Given the description of an element on the screen output the (x, y) to click on. 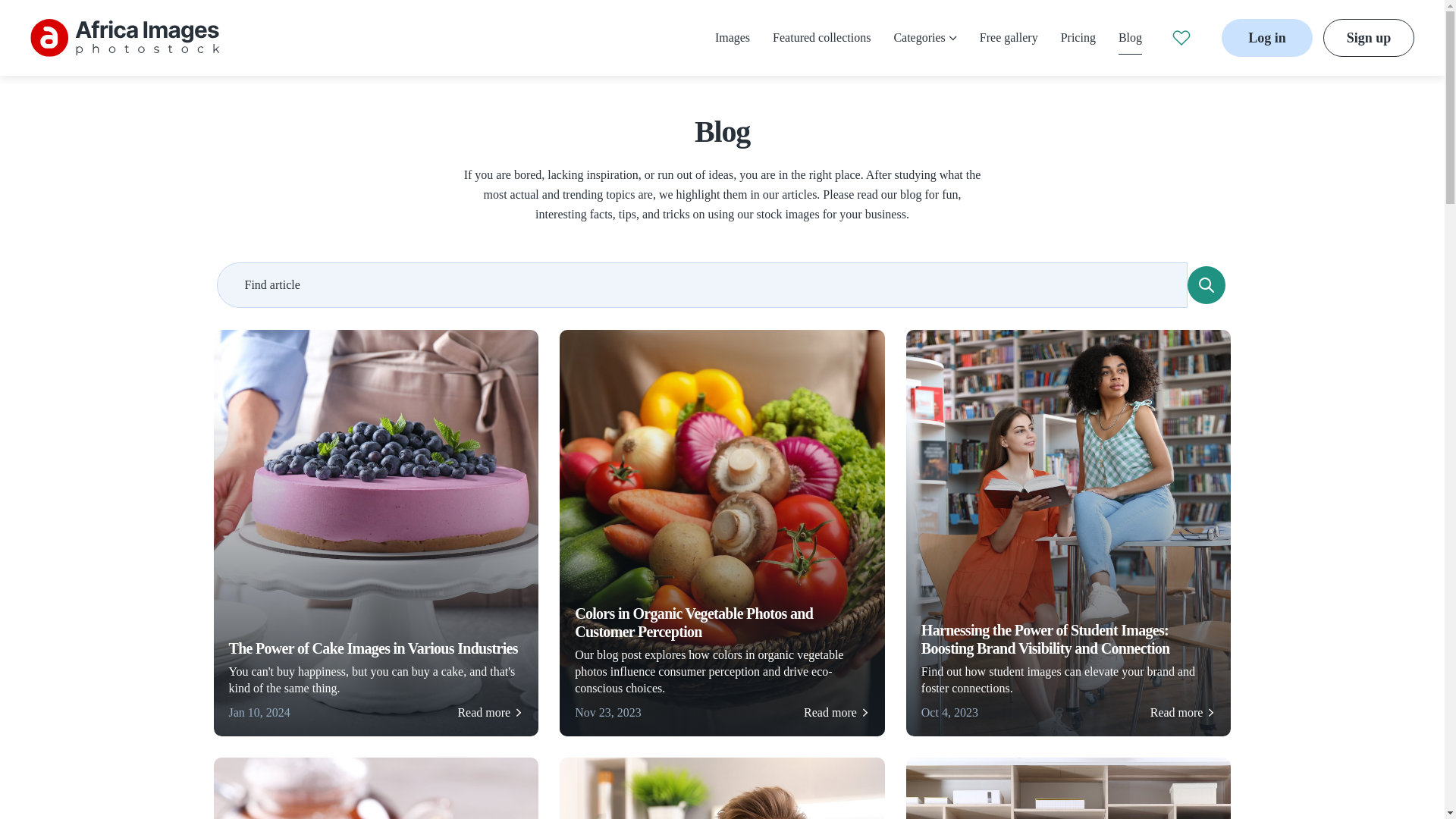
Free gallery (1008, 38)
Pricing (1078, 38)
Sign up (1368, 37)
Images (731, 38)
Featured collections (821, 38)
Categories (924, 38)
Log in (1267, 37)
